Given the description of an element on the screen output the (x, y) to click on. 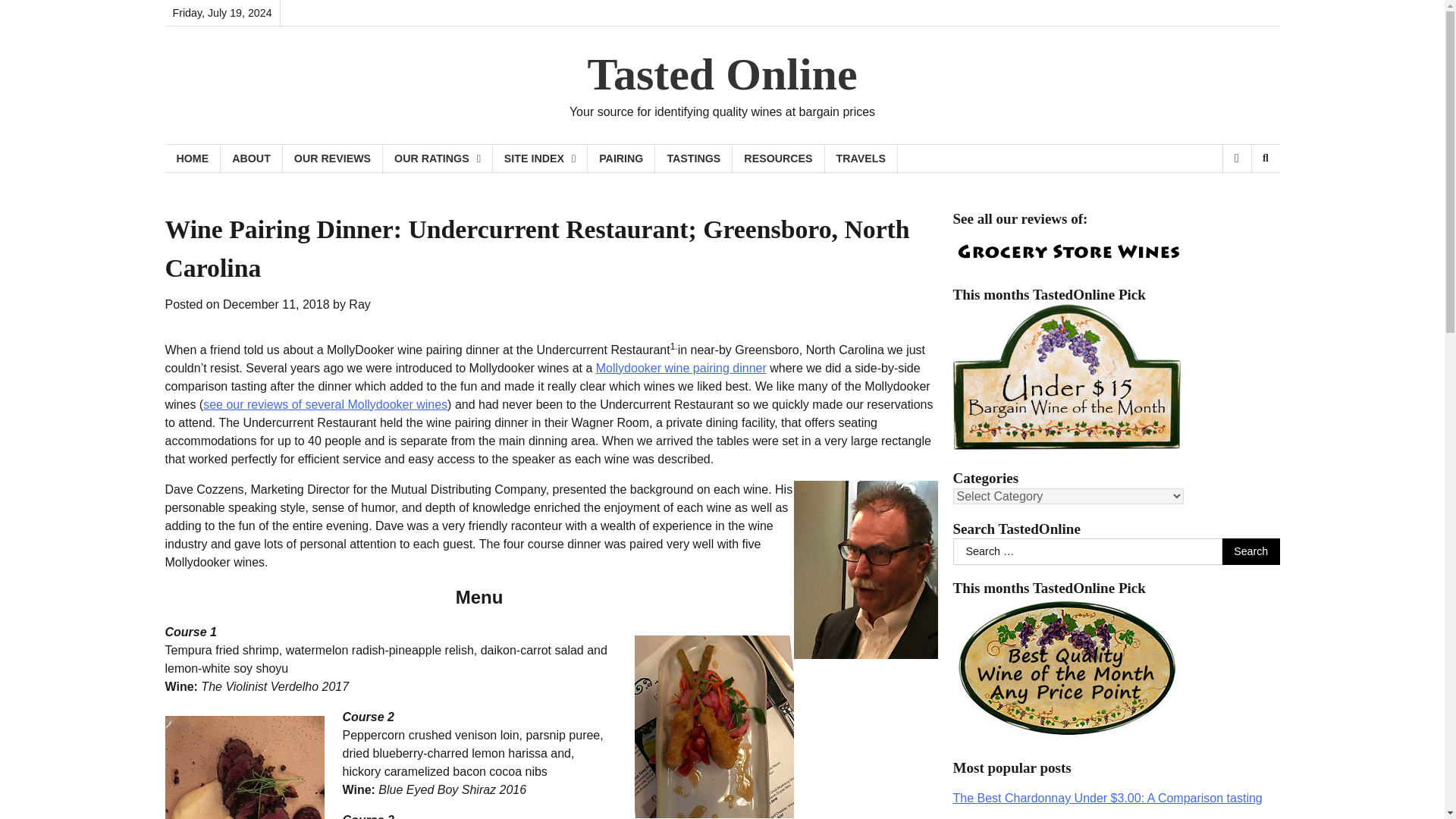
RESOURCES (778, 158)
Search (1240, 197)
View Random Post (1236, 158)
OUR REVIEWS (332, 158)
Search (1264, 158)
Ray (359, 304)
ABOUT (251, 158)
December 11, 2018 (276, 304)
Tasted Online (721, 74)
see our reviews of several Mollydooker wines (324, 404)
TRAVELS (861, 158)
How we rate the wines (437, 158)
HOME (193, 158)
Search (1251, 551)
Search (1251, 551)
